Given the description of an element on the screen output the (x, y) to click on. 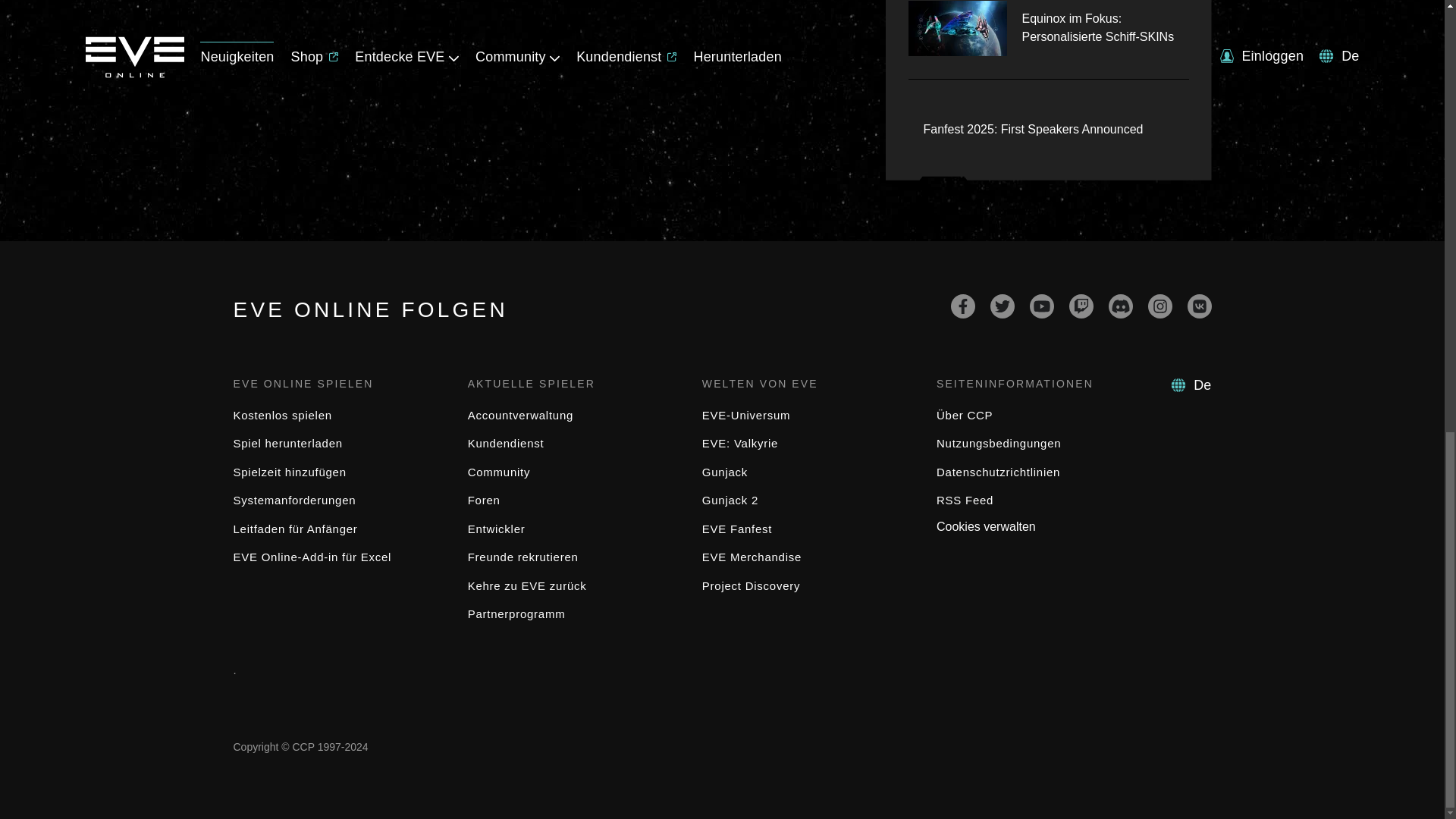
VK (1199, 306)
Facebook (962, 306)
YouTube (1041, 306)
Discord (1120, 306)
Instagram (1160, 306)
Twitch (1080, 306)
Twitter (1002, 306)
